Given the description of an element on the screen output the (x, y) to click on. 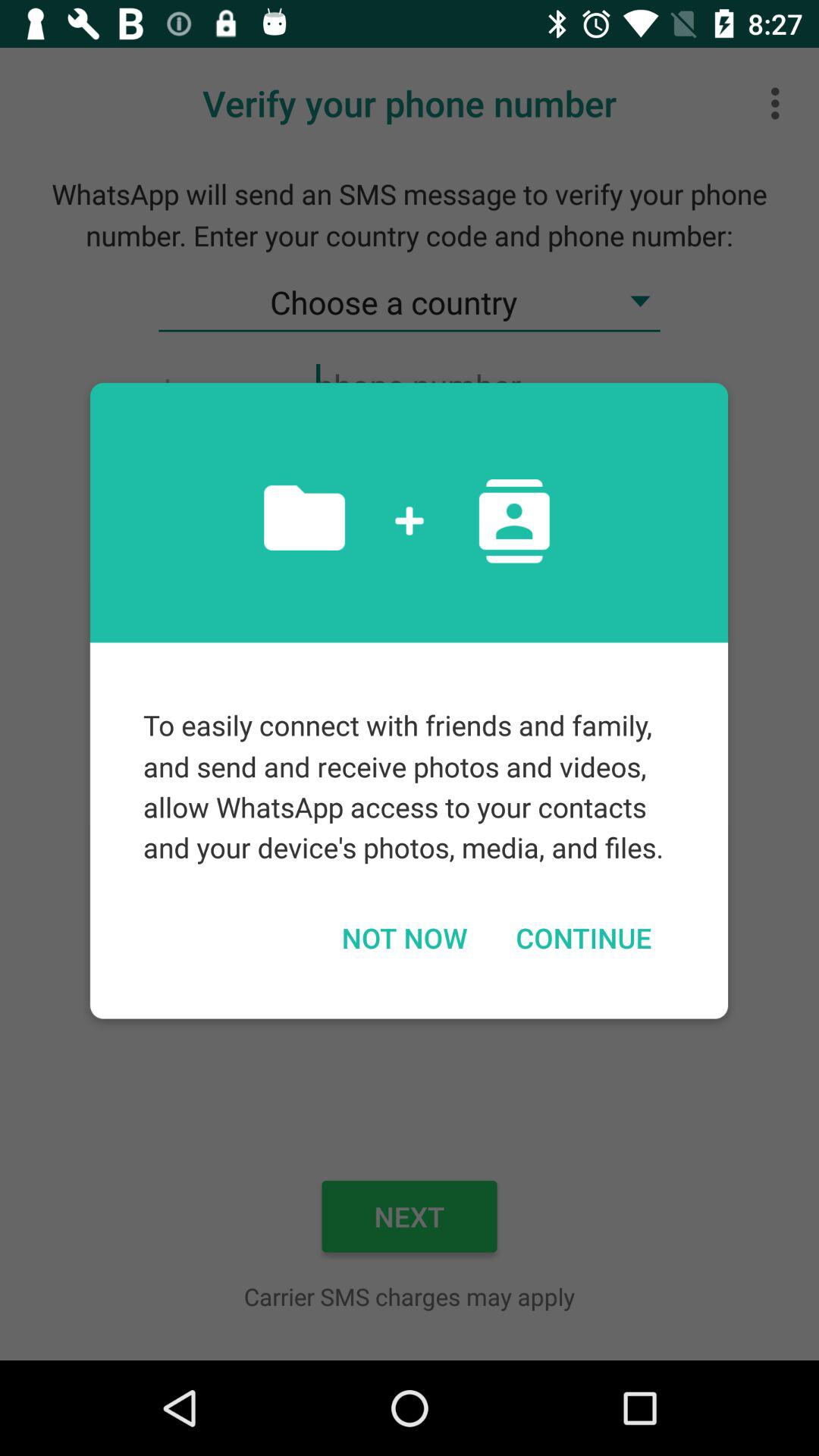
click icon next to the not now icon (583, 937)
